Given the description of an element on the screen output the (x, y) to click on. 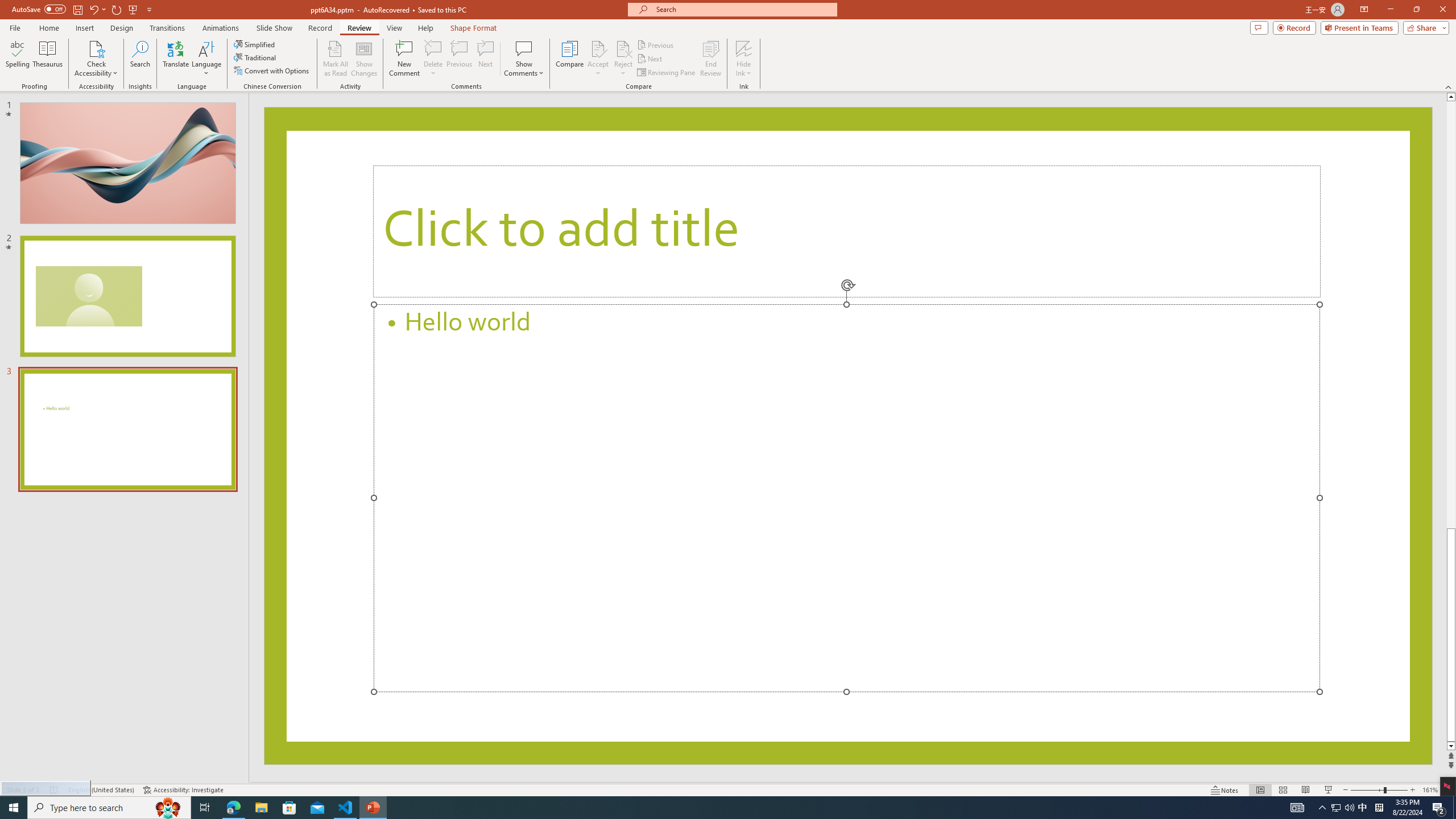
Accept (598, 58)
Simplified (254, 44)
Check Accessibility (95, 48)
Translate (175, 58)
Shape Format (473, 28)
Show Comments (524, 58)
Notes  (1225, 790)
